Given the description of an element on the screen output the (x, y) to click on. 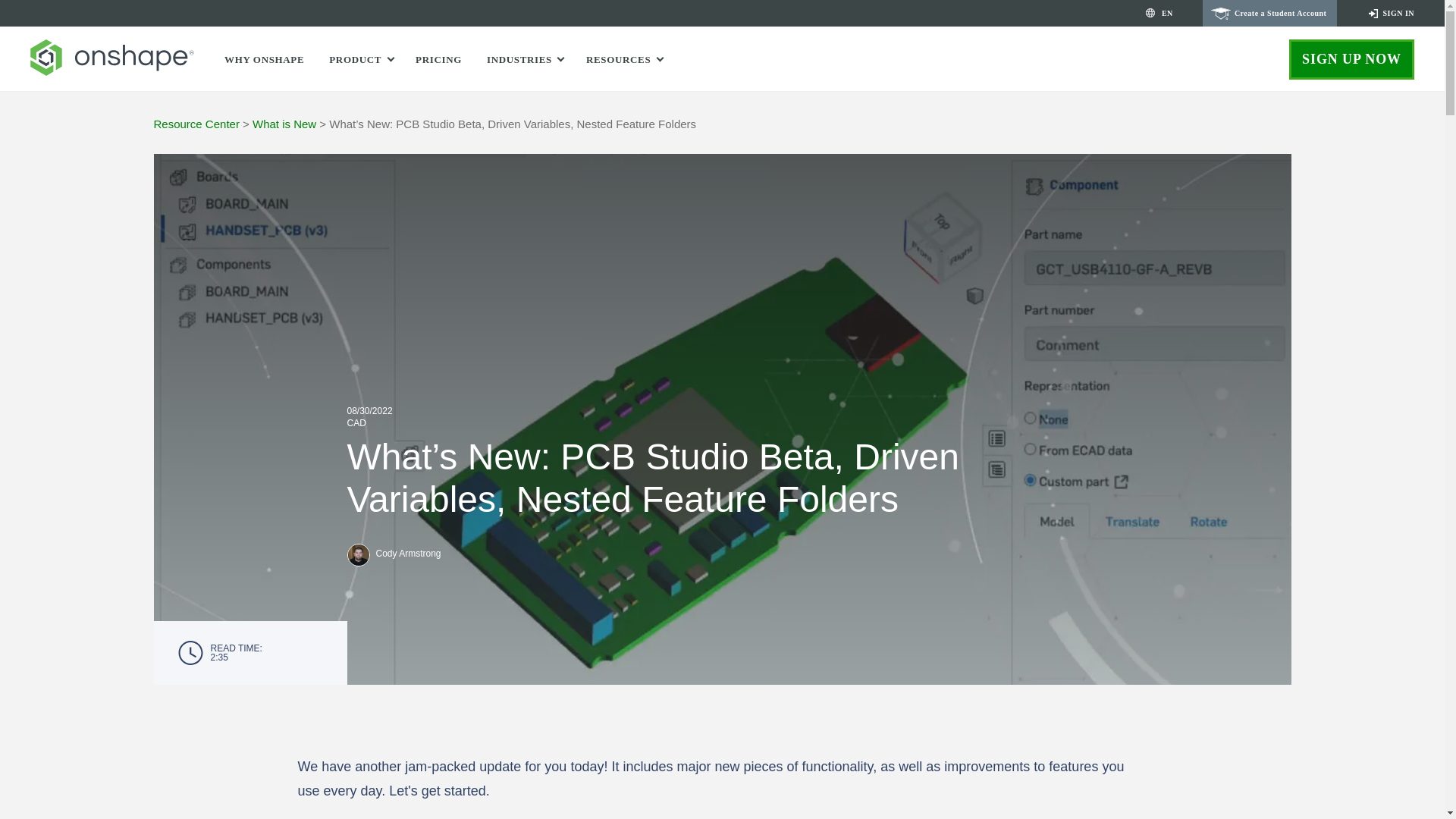
SIGN IN (1390, 13)
PRODUCT (358, 58)
Create a Student Account (1270, 13)
WHY ONSHAPE (264, 58)
EN (1167, 17)
